Given the description of an element on the screen output the (x, y) to click on. 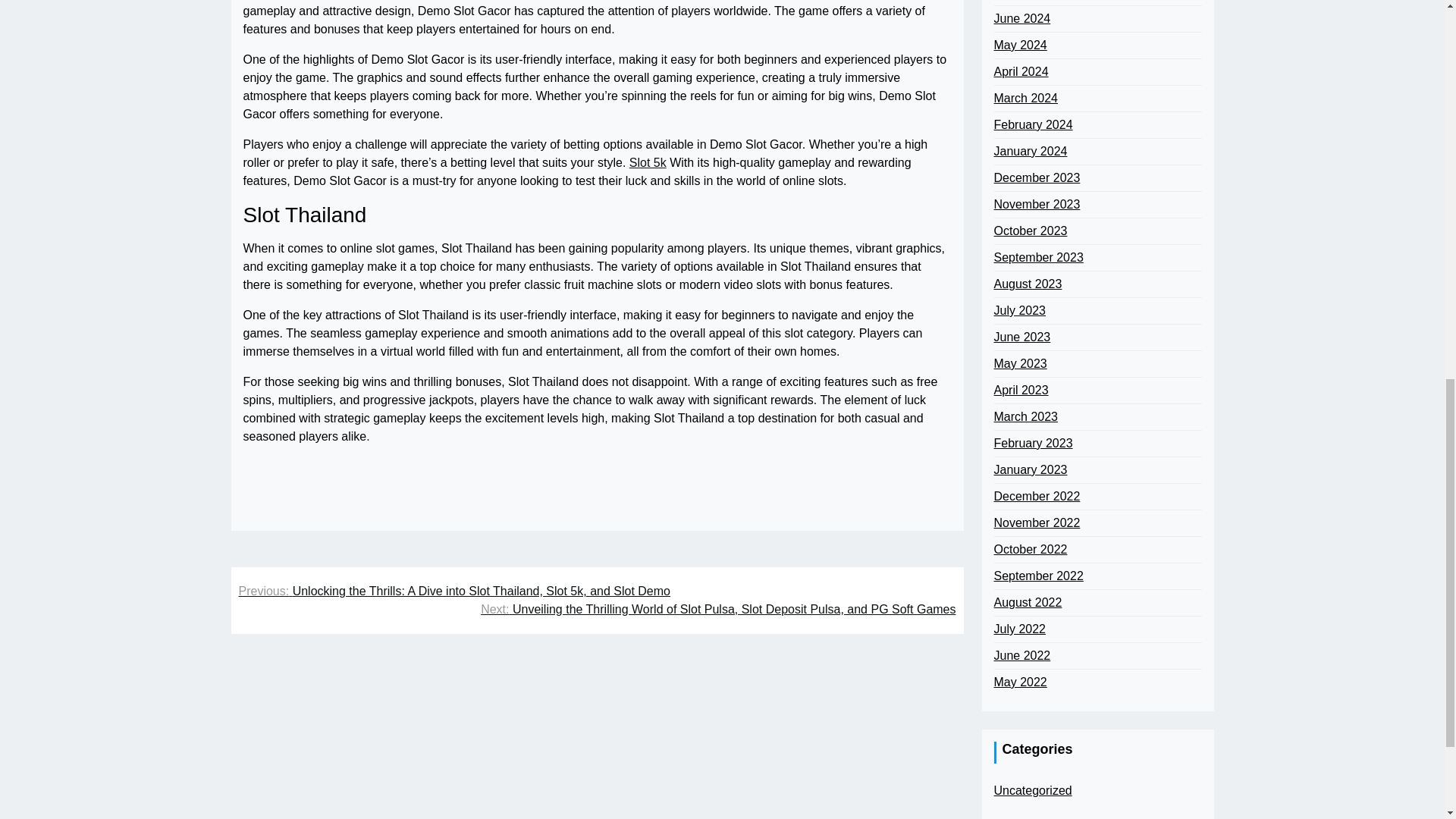
January 2024 (1029, 151)
January 2023 (1029, 470)
September 2023 (1037, 257)
February 2023 (1031, 443)
July 2024 (1018, 0)
April 2024 (1020, 72)
December 2022 (1036, 496)
August 2023 (1026, 284)
February 2024 (1031, 125)
May 2023 (1019, 363)
July 2023 (1018, 311)
March 2024 (1025, 98)
March 2023 (1025, 416)
